Given the description of an element on the screen output the (x, y) to click on. 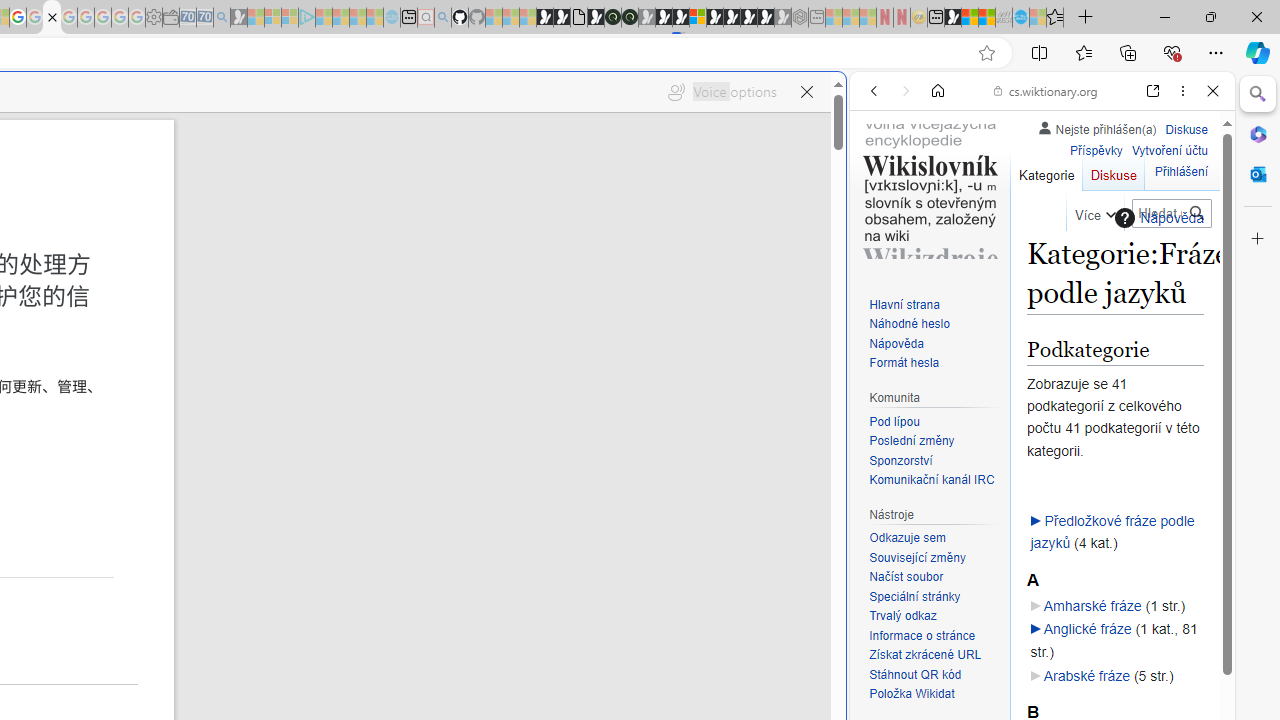
WEB   (882, 228)
Services - Maintenance | Sky Blue Bikes - Sky Blue Bikes (1020, 17)
Odkazuje sem (907, 538)
Diskuse (1113, 170)
Preferences (1189, 228)
